Given the description of an element on the screen output the (x, y) to click on. 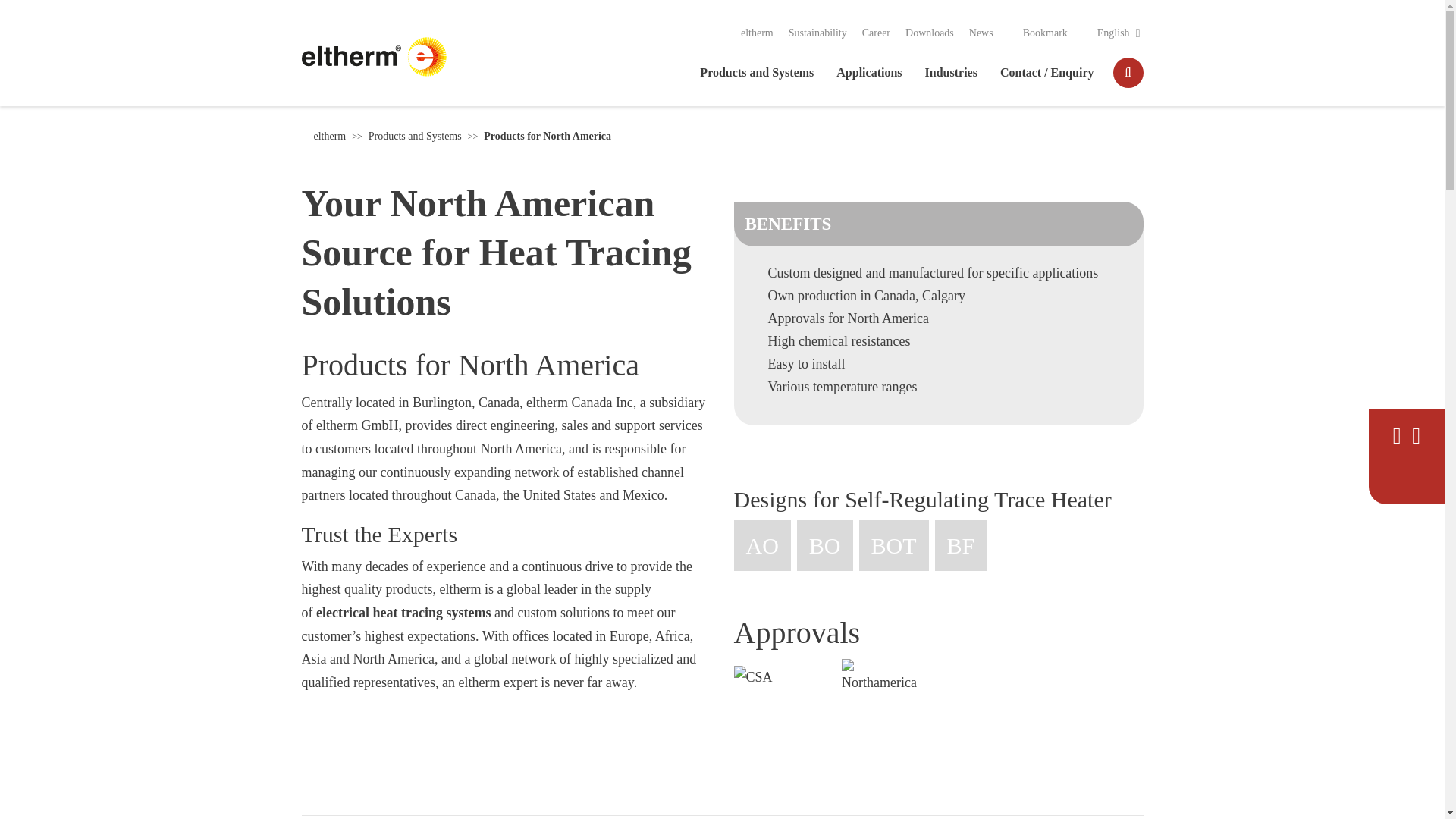
Bookmark (1038, 33)
Downloads (929, 32)
Career (875, 32)
Sustainability (818, 32)
Industries (950, 72)
News (980, 32)
English (1112, 32)
Downloads (929, 32)
eltherm (757, 32)
Career (875, 32)
